Given the description of an element on the screen output the (x, y) to click on. 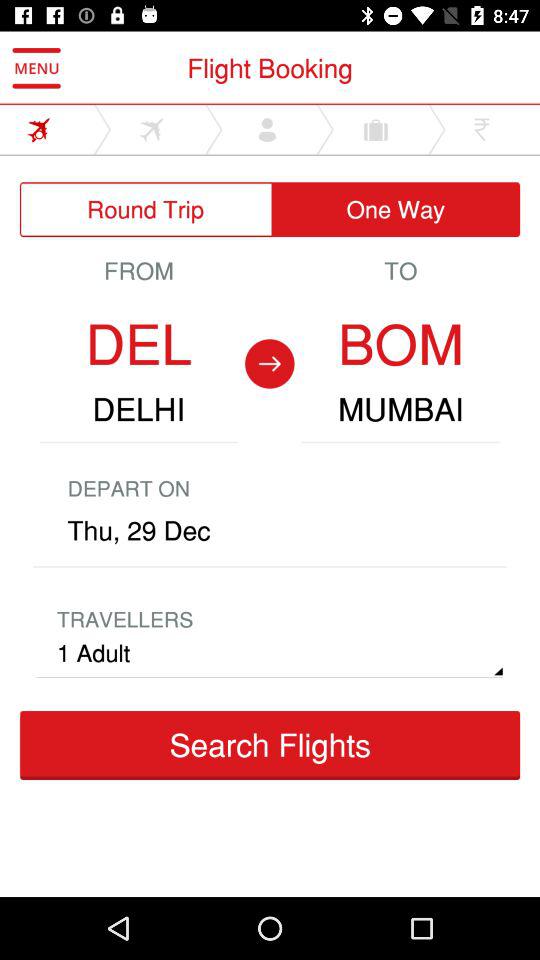
click on the caret right arrow which is below the word flight (214, 129)
select the text one way (396, 209)
it is clickable (158, 129)
click on text delhi (138, 409)
select the right arrow button (269, 363)
